Given the description of an element on the screen output the (x, y) to click on. 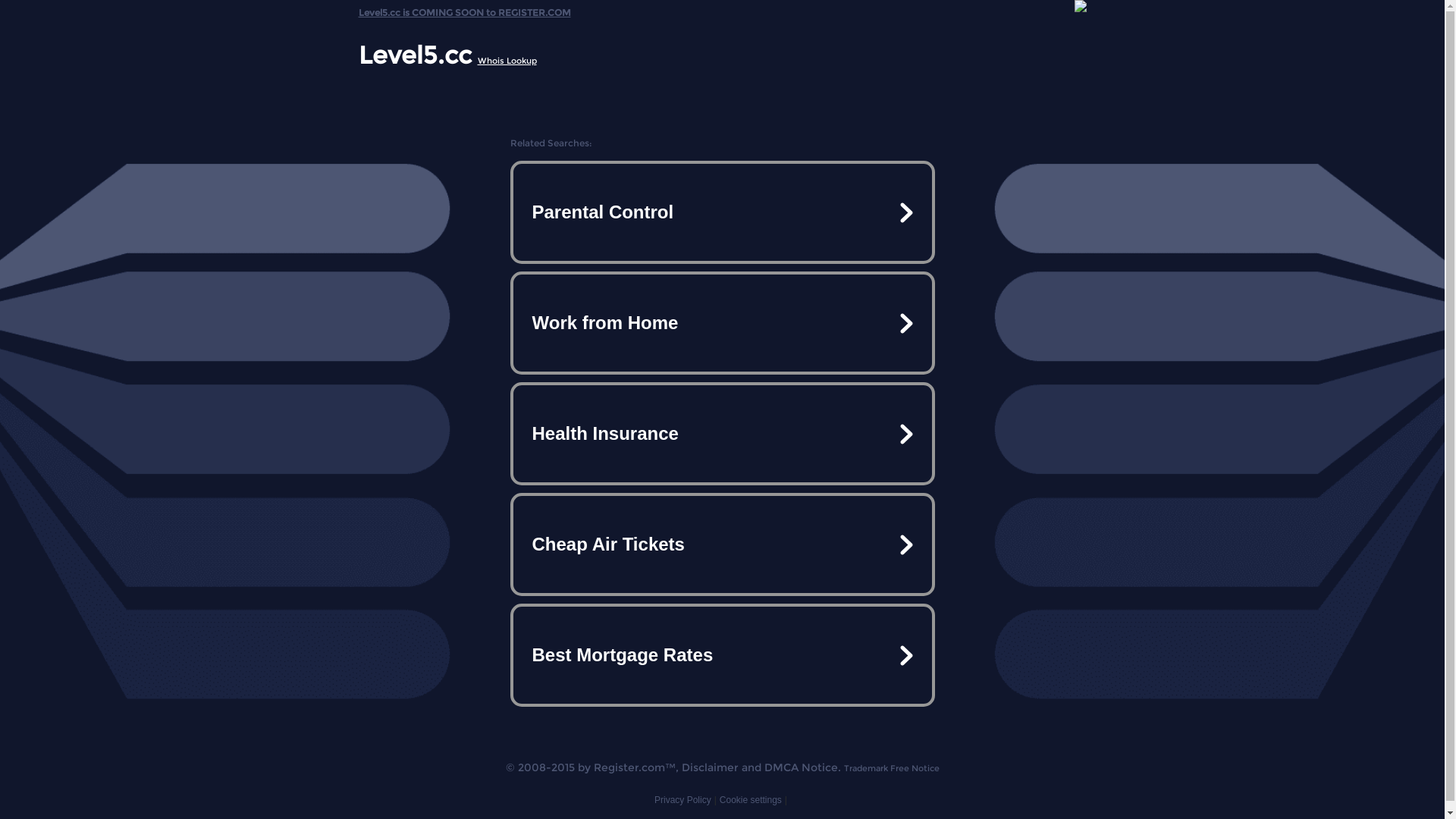
Whois Lookup Element type: text (506, 60)
Best Mortgage Rates Element type: text (721, 654)
Cheap Air Tickets Element type: text (721, 544)
Trademark Free Notice Element type: text (890, 767)
Parental Control Element type: text (721, 211)
Work from Home Element type: text (721, 322)
Cookie settings Element type: text (750, 799)
Health Insurance Element type: text (721, 433)
Level5.cc is COMING SOON to REGISTER.COM Element type: text (463, 9)
Privacy Policy Element type: text (682, 799)
Level5.cc Element type: text (413, 54)
